Given the description of an element on the screen output the (x, y) to click on. 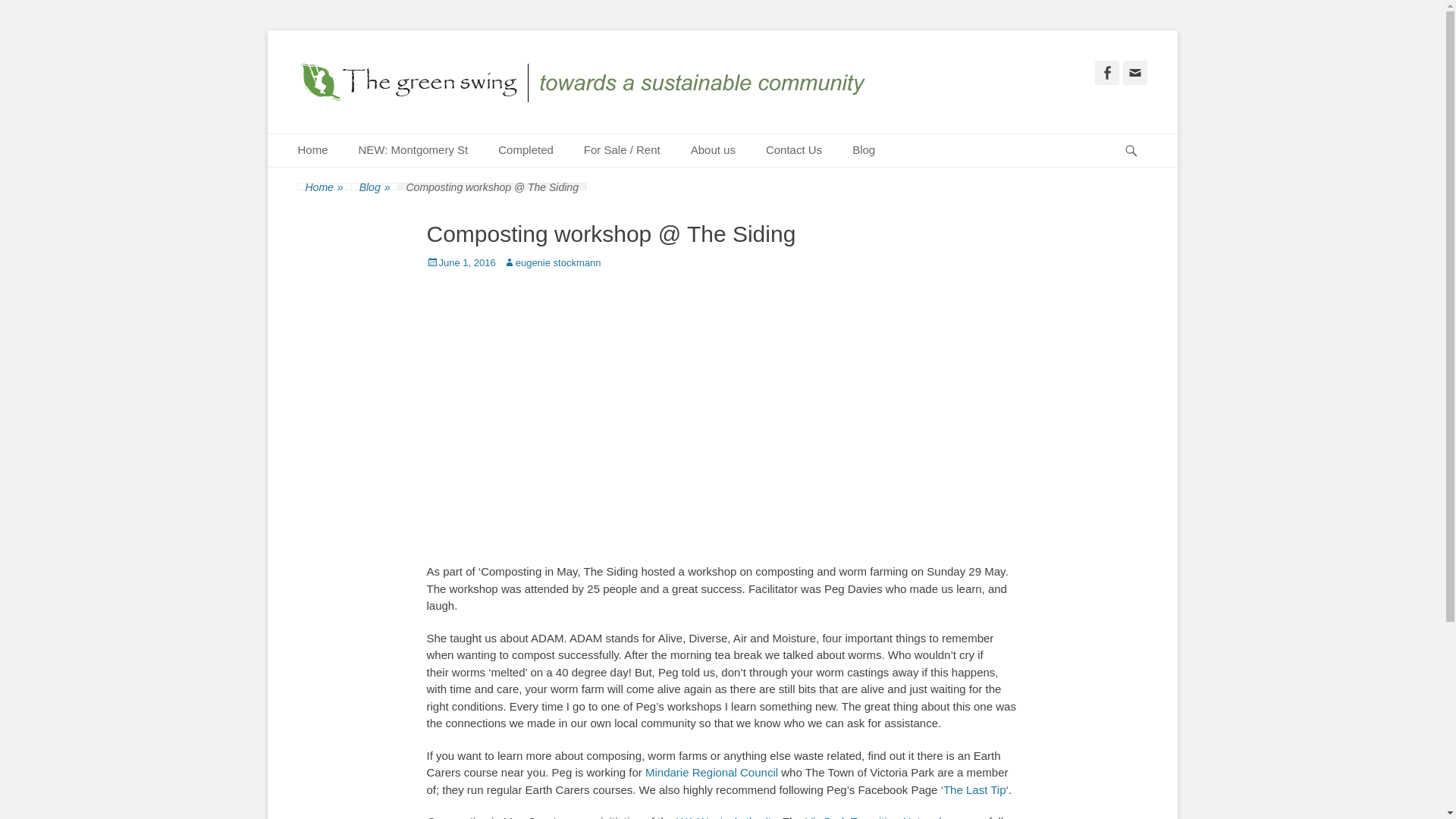
NEW: Montgomery St (413, 150)
The Green Swing (588, 81)
Email (1134, 72)
Blog (863, 150)
Facebook (1106, 72)
Contact Us (794, 150)
The Last Tip (974, 788)
Home (312, 150)
Completed (526, 150)
